Given the description of an element on the screen output the (x, y) to click on. 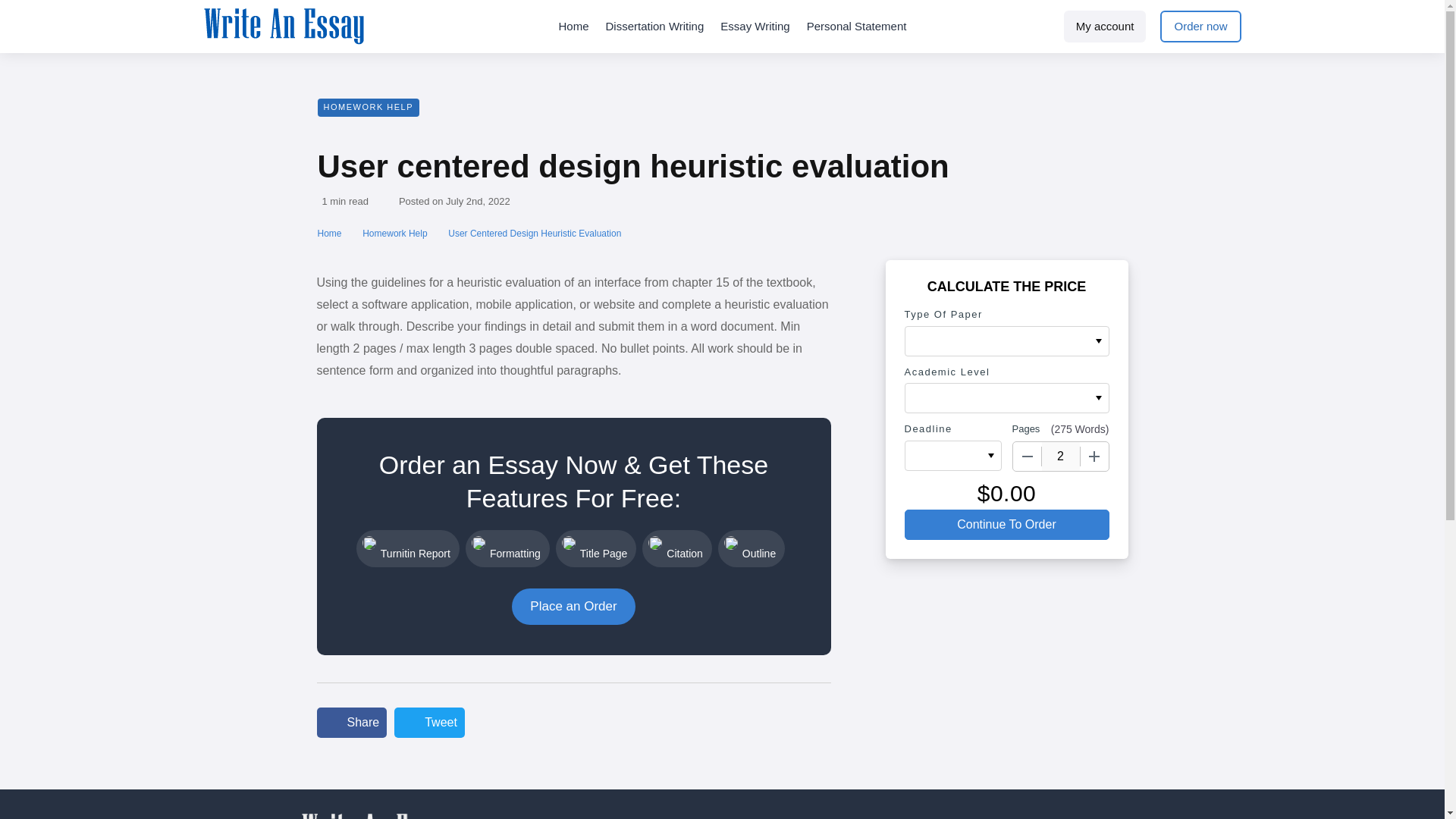
Decrease (1027, 456)
My account (1105, 26)
Home (572, 27)
Increase (1094, 456)
Personal Statement (856, 27)
User Centered Design Heuristic Evaluation (534, 233)
Share (352, 722)
Dissertation Writing (654, 27)
Home (330, 233)
Order now (1200, 26)
Continue to order (1006, 524)
HOMEWORK HELP (368, 107)
Homework Help (395, 233)
Place an Order (573, 606)
2 (1061, 456)
